Given the description of an element on the screen output the (x, y) to click on. 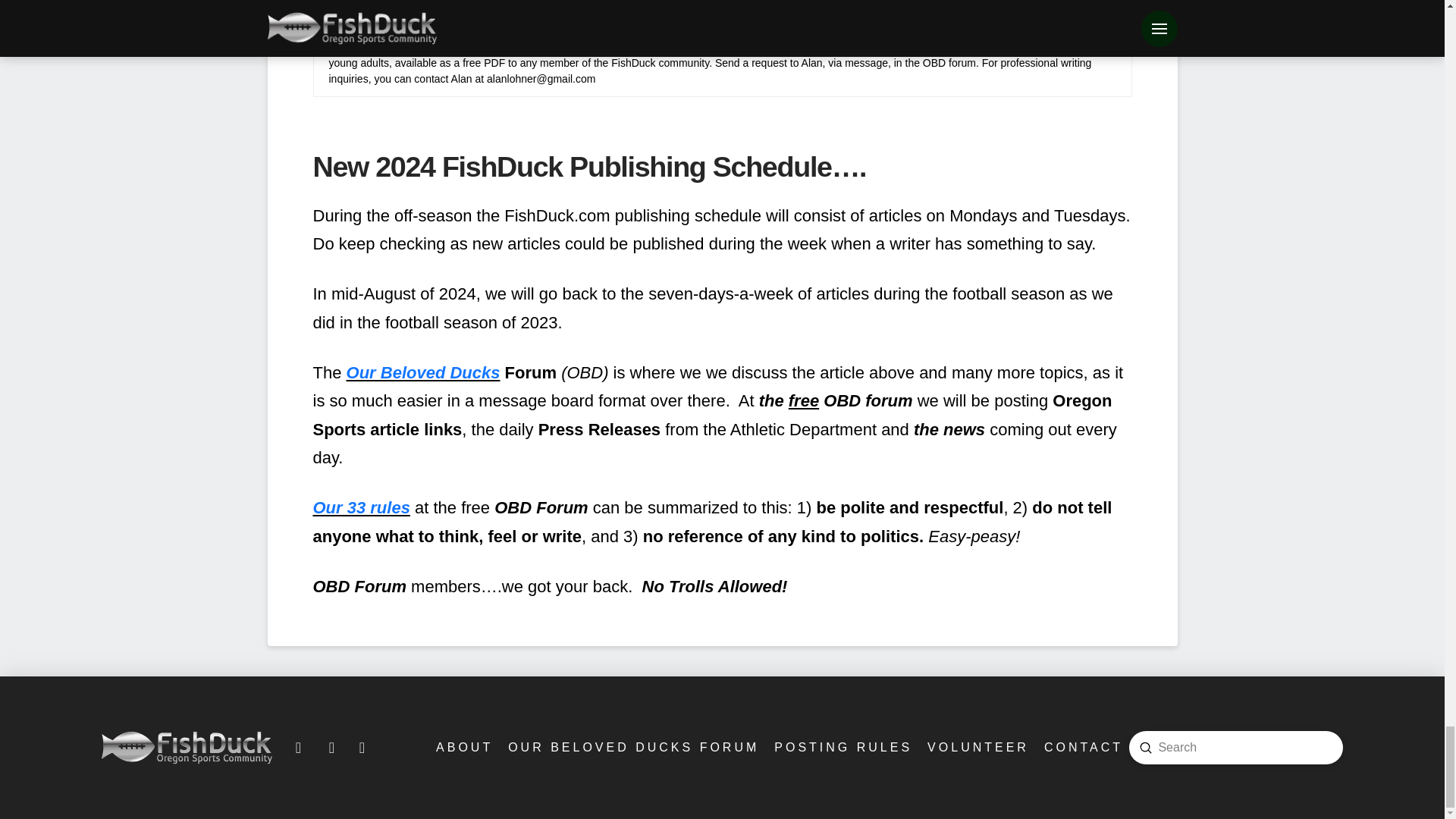
ABOUT (462, 747)
POSTING RULES (841, 747)
Our 33 rules (361, 506)
Submit (1145, 747)
VOLUNTEER (976, 747)
OUR BELOVED DUCKS FORUM (632, 747)
Volunteer (976, 747)
About (462, 747)
Commenting Rules (841, 747)
Our Beloved Ducks (423, 372)
